Given the description of an element on the screen output the (x, y) to click on. 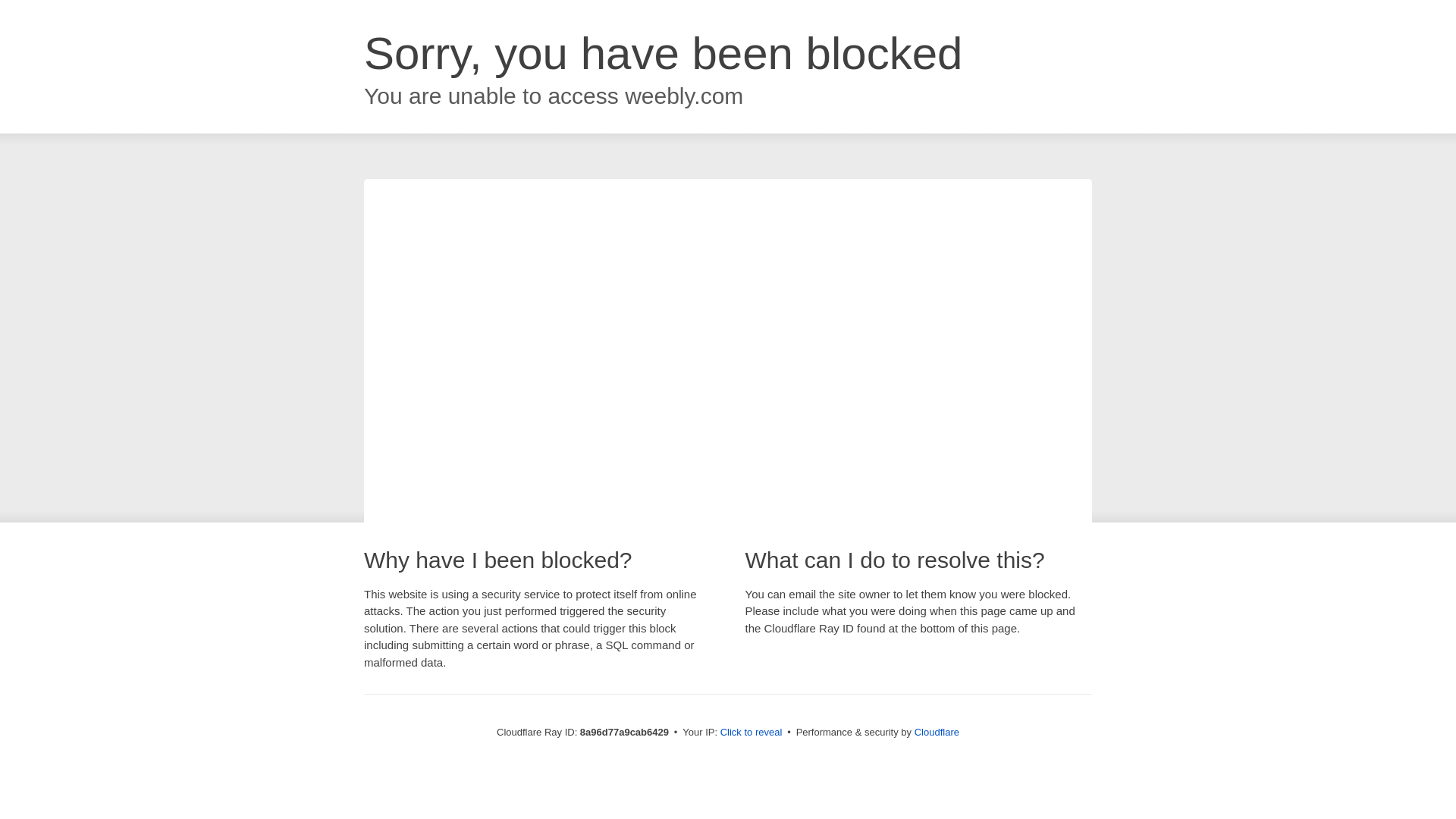
Click to reveal (751, 732)
Cloudflare (936, 731)
